Given the description of an element on the screen output the (x, y) to click on. 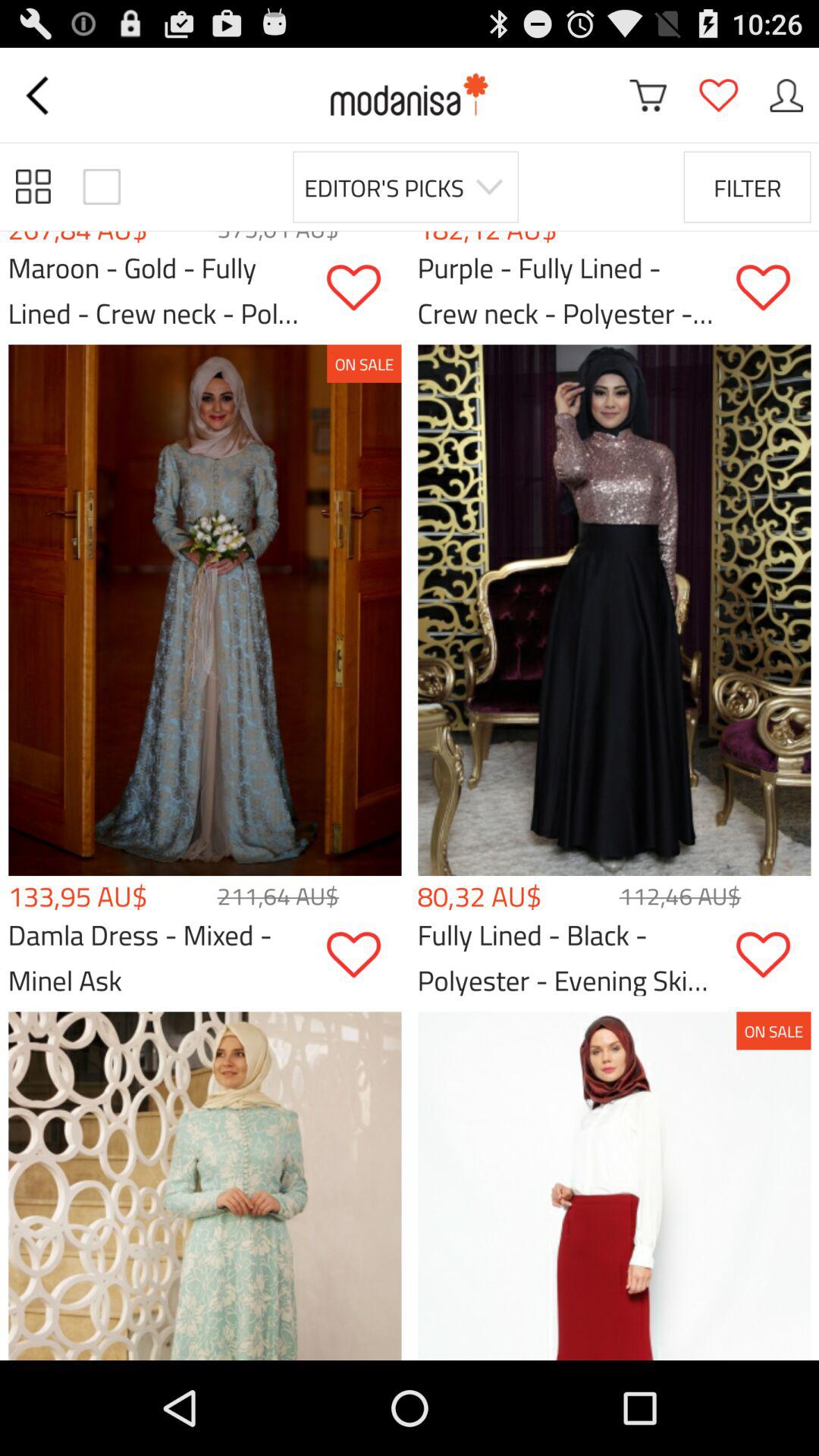
maroon-gold-fully lined- crew neck-pol (363, 287)
